Given the description of an element on the screen output the (x, y) to click on. 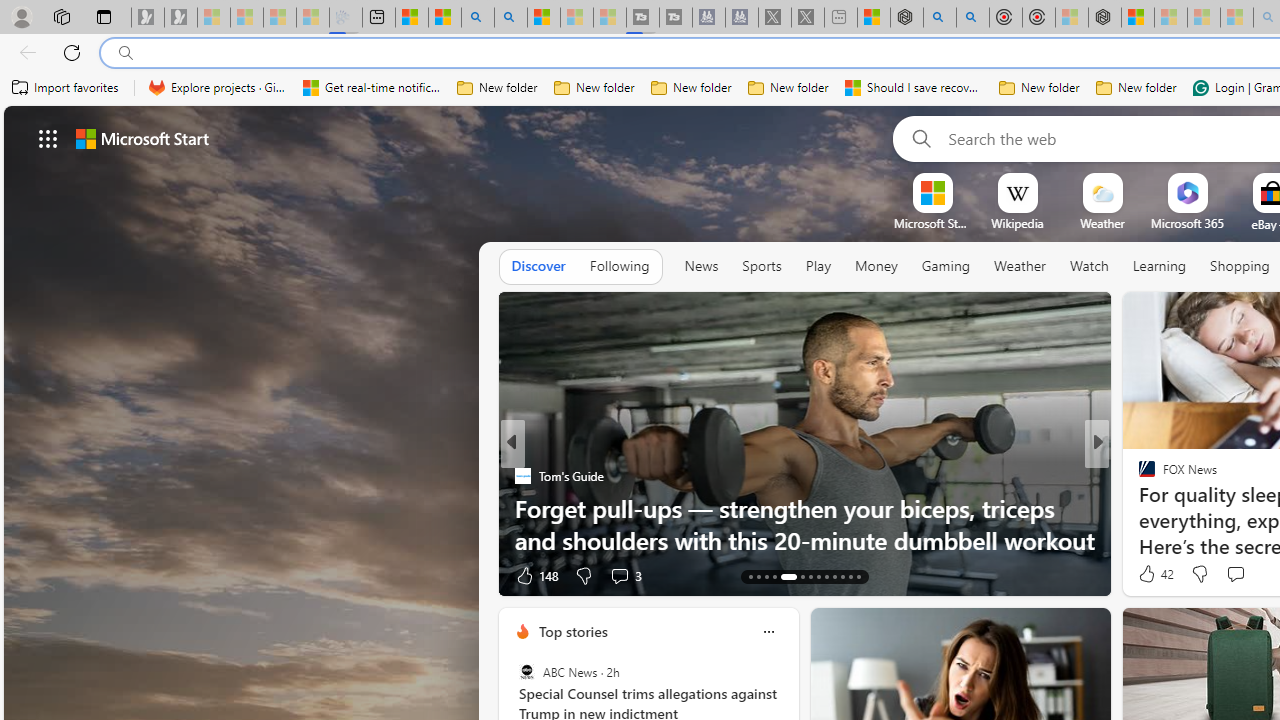
AutomationID: tab-24 (850, 576)
The Wall Street Journal (1138, 507)
View comments 4 Comment (1229, 575)
AutomationID: tab-20 (818, 576)
Sports (761, 265)
42 Like (1154, 574)
Work + Money (1138, 507)
Wikipedia (1017, 223)
View comments 4 Comment (1234, 574)
